Given the description of an element on the screen output the (x, y) to click on. 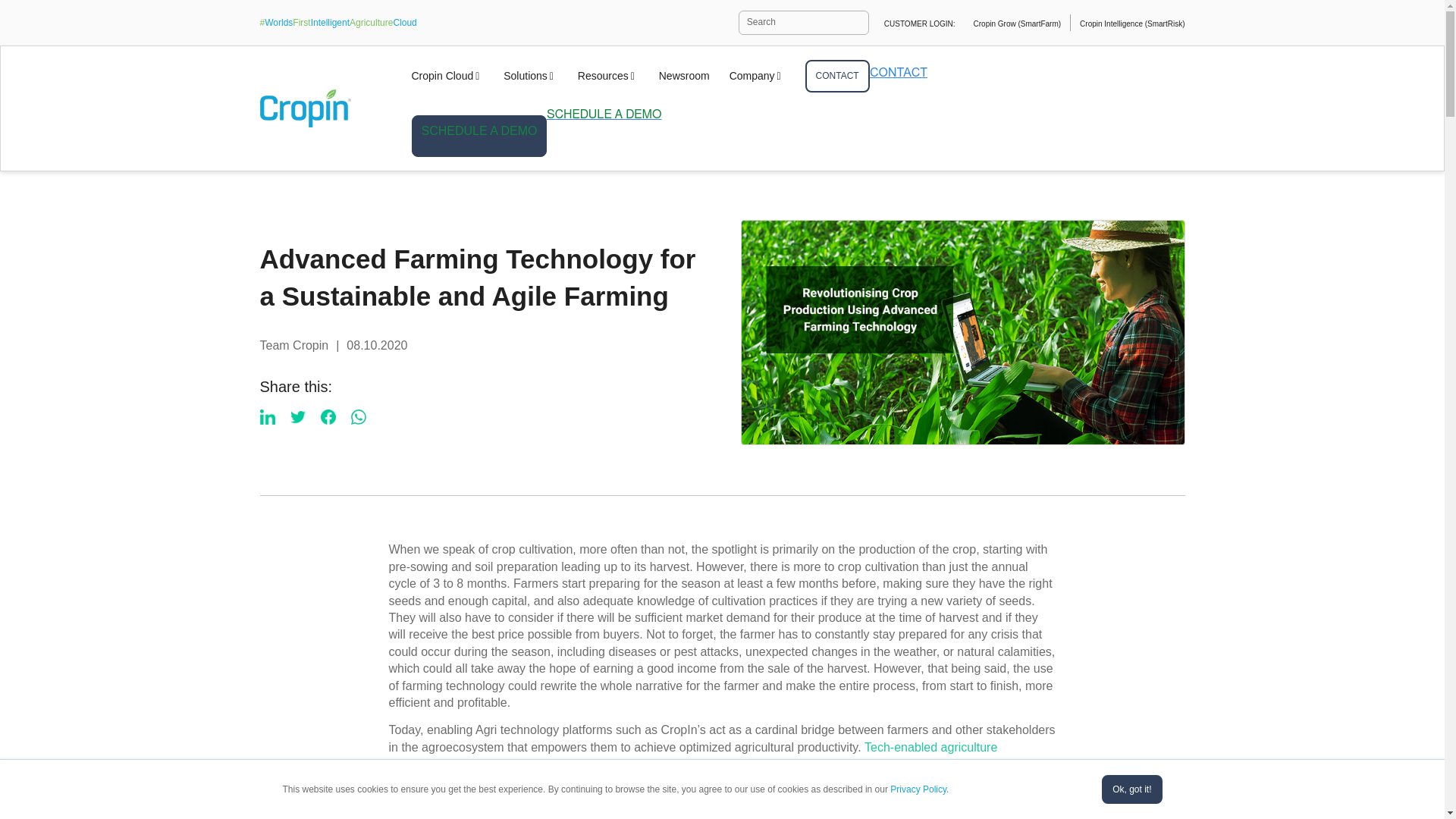
Solutions (530, 75)
Ok, got it! (1131, 788)
Company (757, 75)
CONTACT (837, 75)
Resources (608, 75)
CONTACT (837, 75)
Newsroom (684, 75)
Privacy Policy (917, 788)
Cropin Cloud (446, 75)
SCHEDULE A DEMO (478, 136)
